Given the description of an element on the screen output the (x, y) to click on. 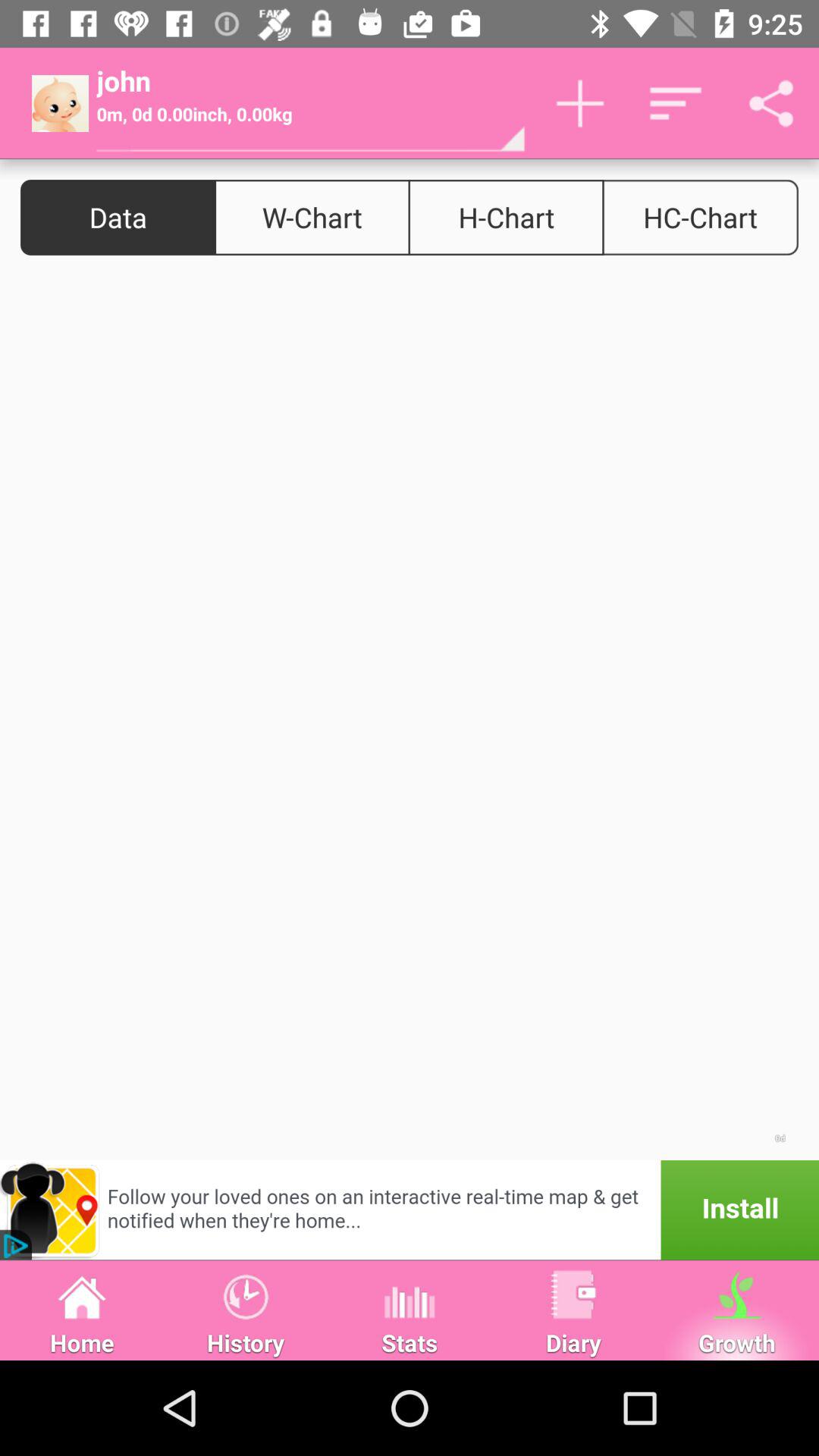
colour page (409, 717)
